Given the description of an element on the screen output the (x, y) to click on. 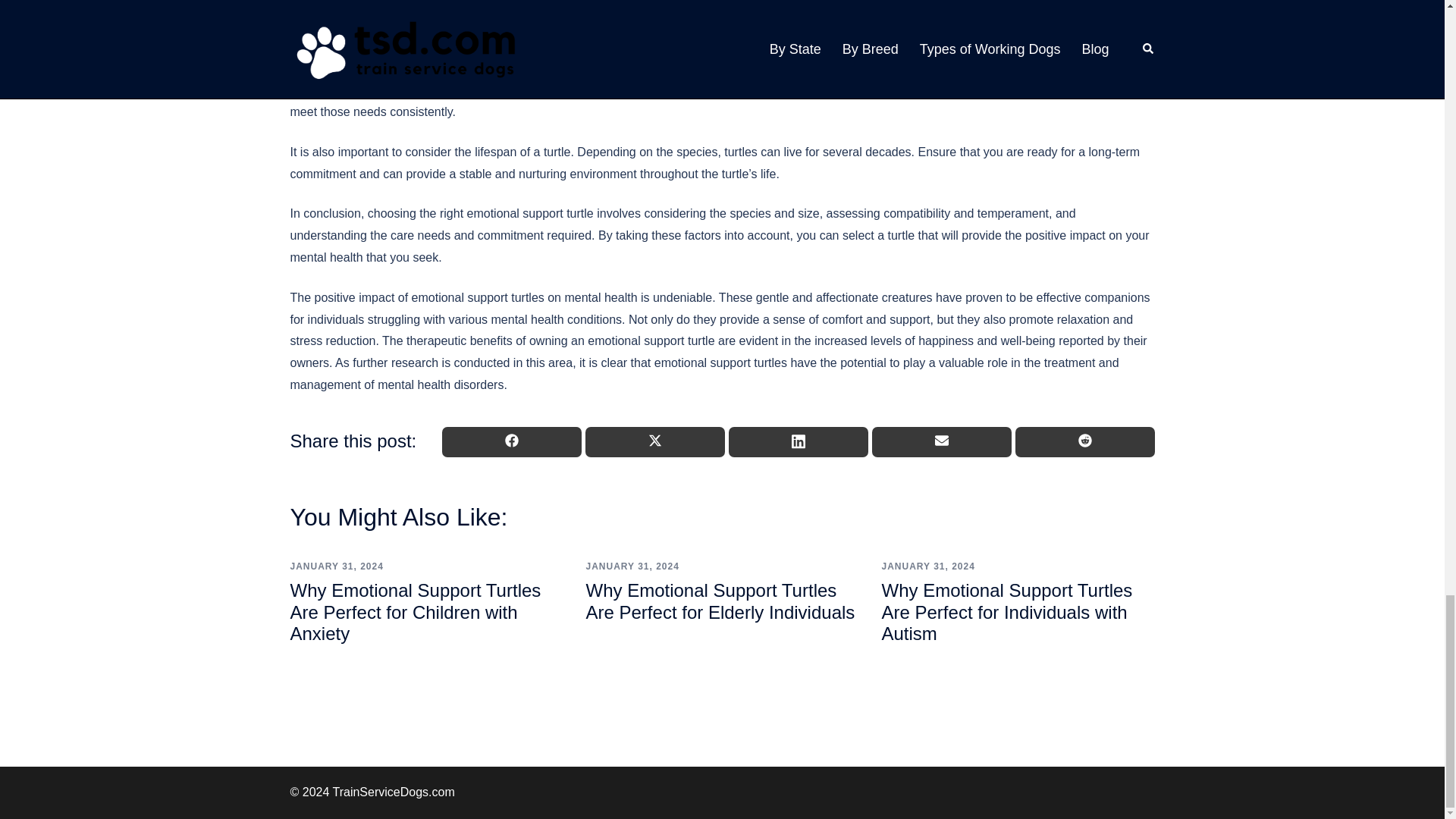
JANUARY 31, 2024 (631, 566)
JANUARY 31, 2024 (335, 566)
JANUARY 31, 2024 (927, 566)
